Given the description of an element on the screen output the (x, y) to click on. 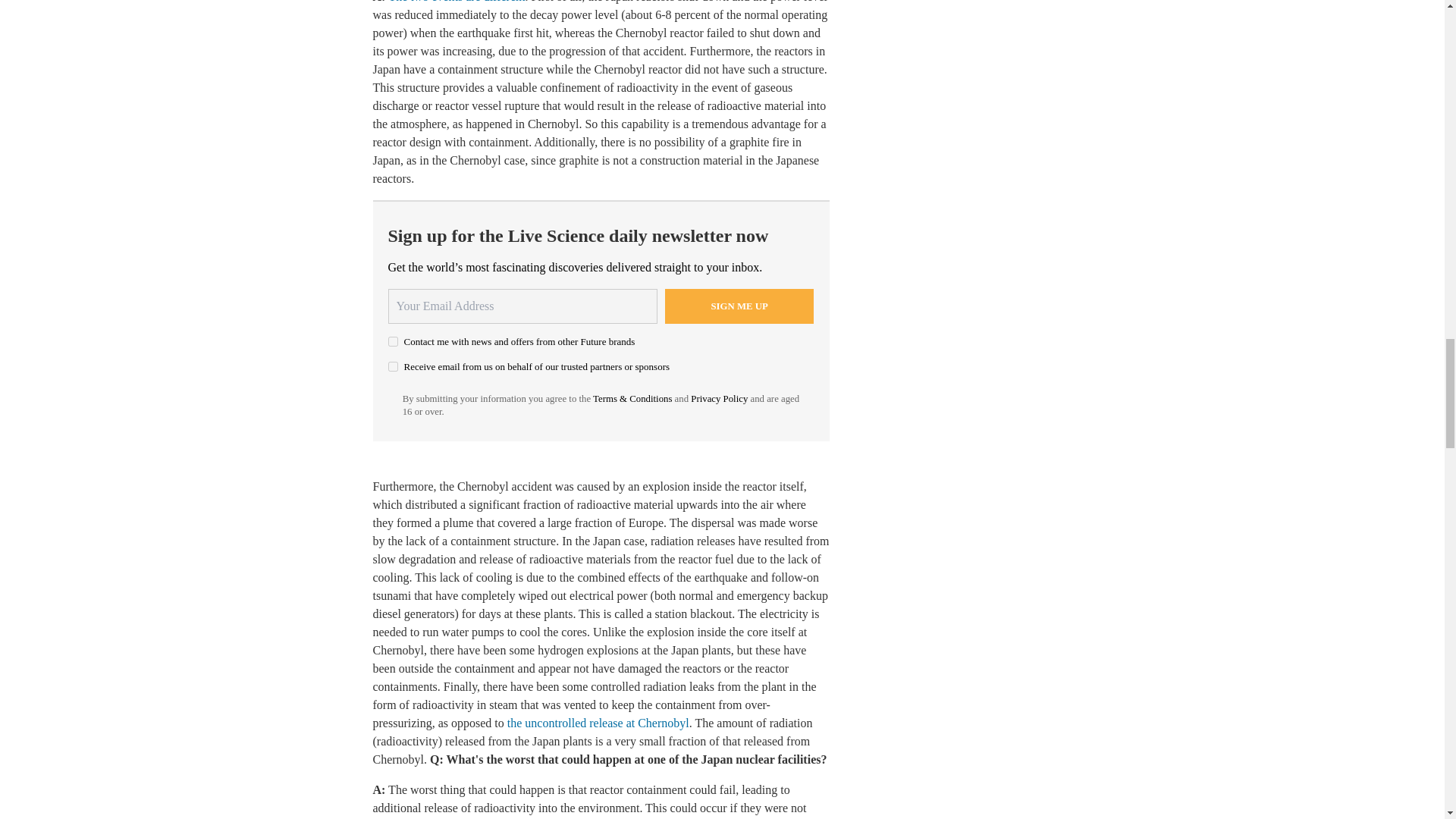
on (392, 341)
Sign me up (739, 306)
on (392, 366)
